Given the description of an element on the screen output the (x, y) to click on. 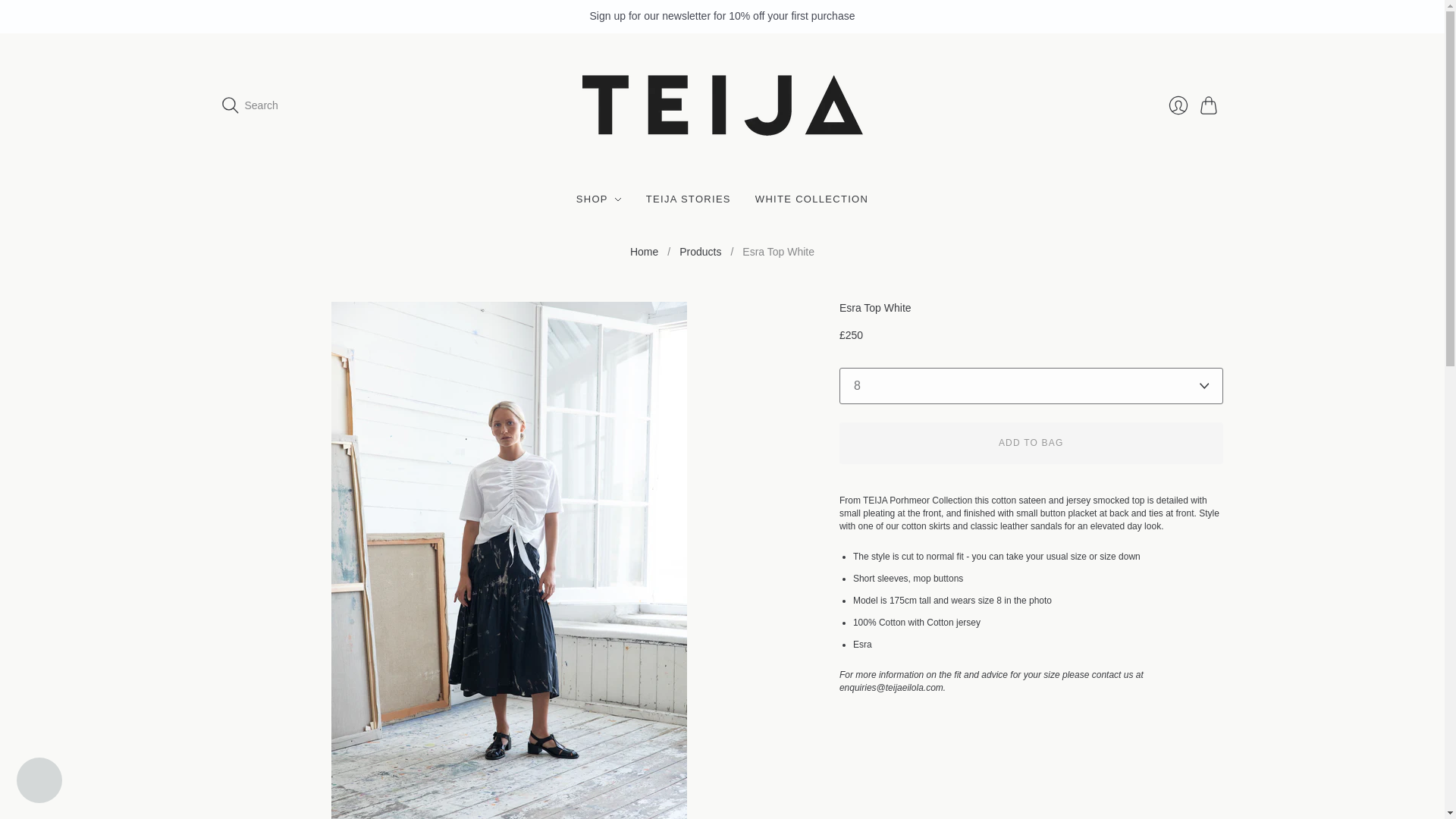
Cart (1210, 105)
Shopify online store chat (38, 781)
Search (249, 104)
WHITE COLLECTION (811, 198)
Login (1177, 105)
TEIJA STORIES (688, 198)
